Given the description of an element on the screen output the (x, y) to click on. 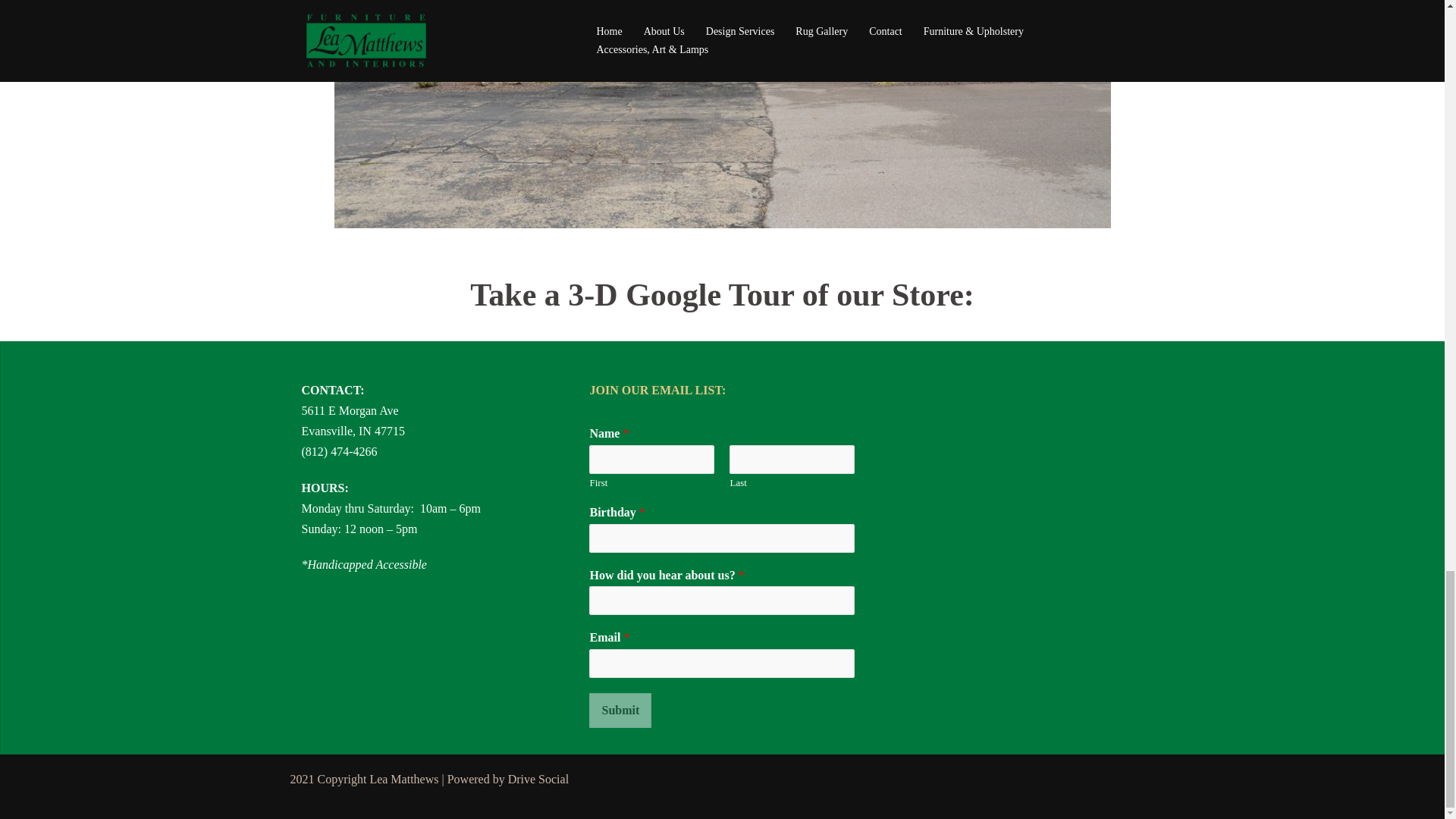
Submit (619, 710)
Drive Social (538, 779)
Take a 3-D Google Tour of our Store: (722, 294)
